Given the description of an element on the screen output the (x, y) to click on. 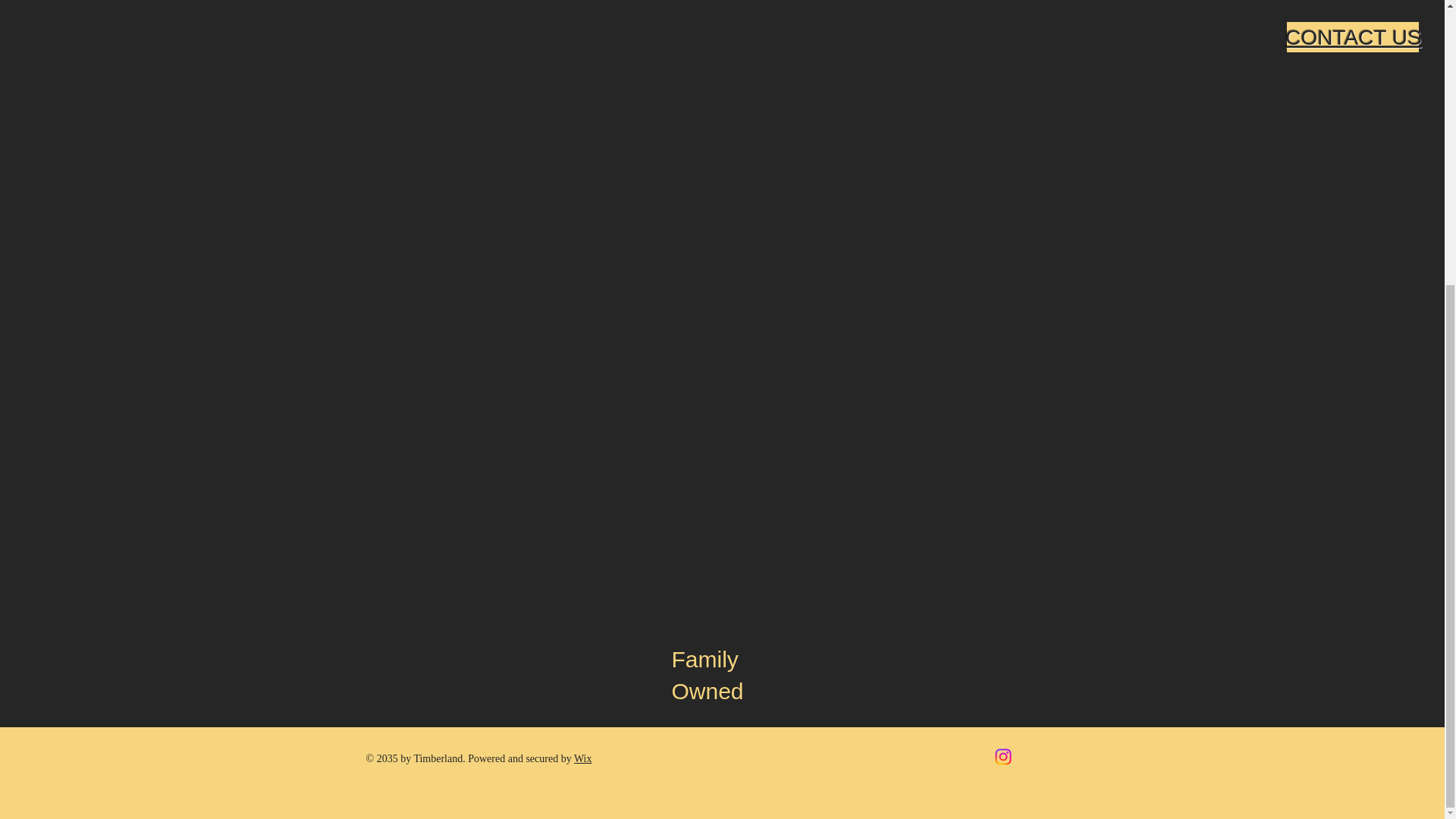
Wix (582, 758)
